Given the description of an element on the screen output the (x, y) to click on. 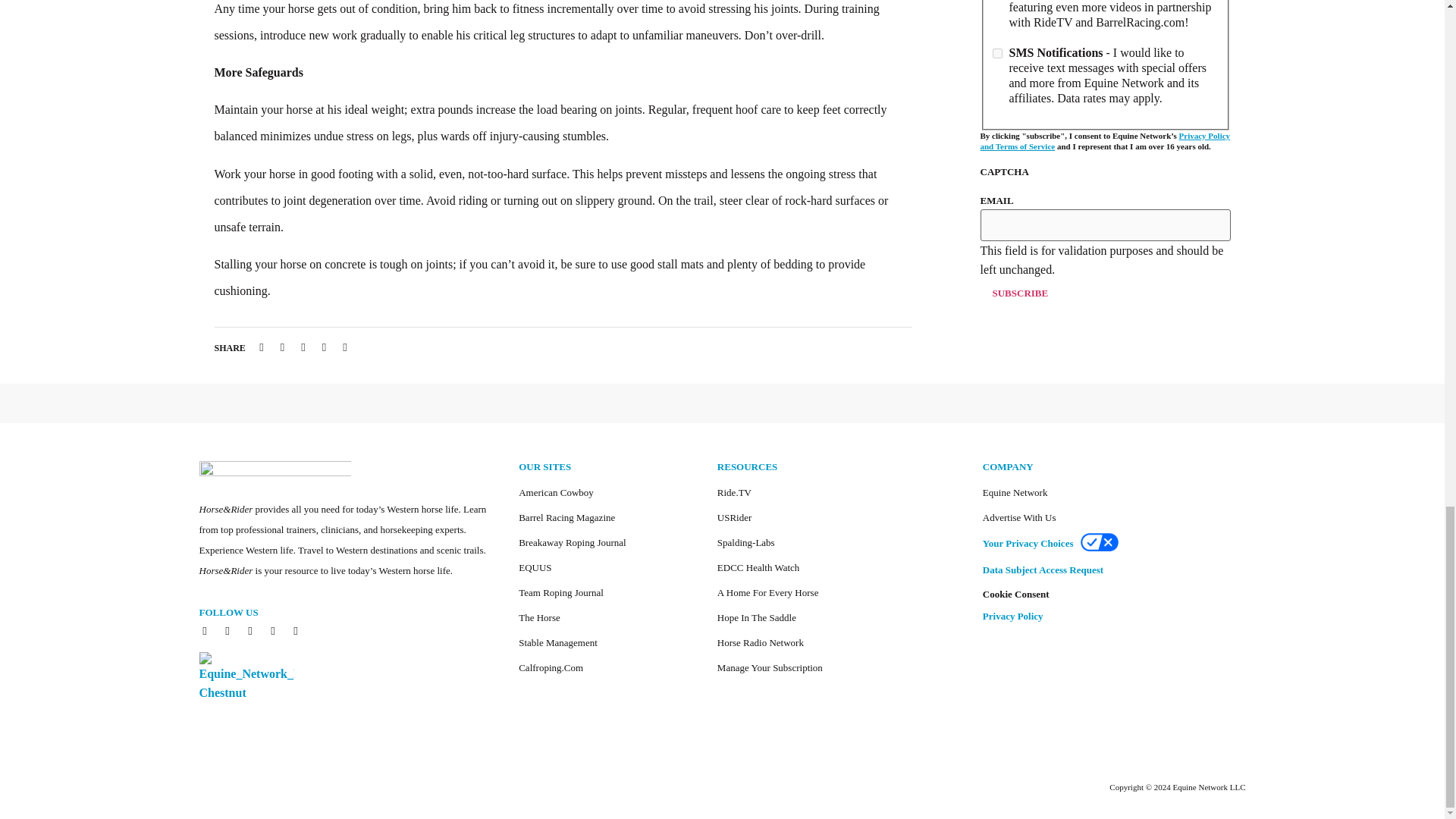
SMS Notifications (996, 53)
Subscribe (1019, 293)
